Given the description of an element on the screen output the (x, y) to click on. 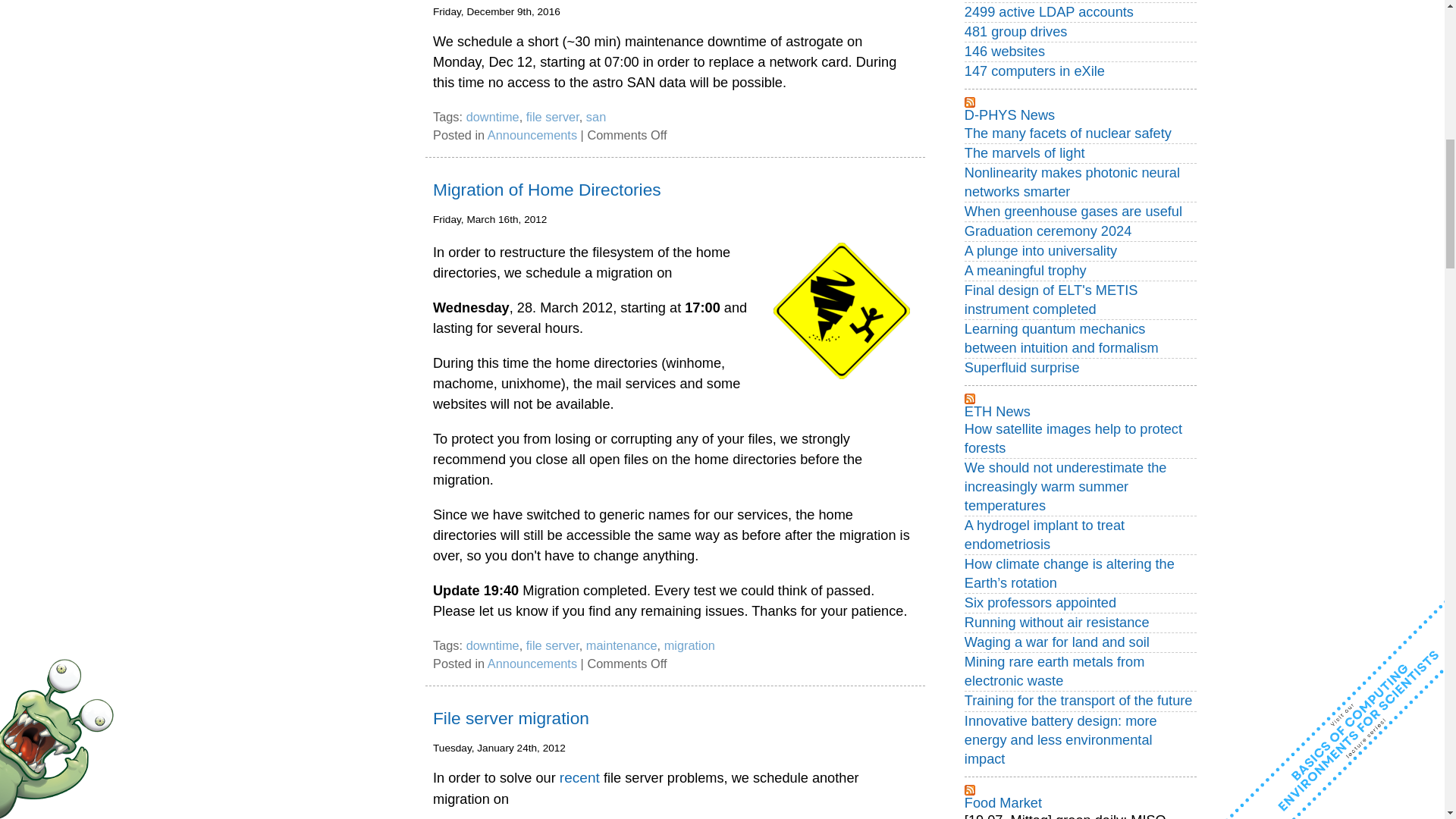
Permanent Link to Migration of Home Directories (546, 189)
Announcements (531, 134)
Permanent Link to File server migration (510, 718)
san (595, 116)
file server (552, 116)
Migration of Home Directories (546, 189)
downtime (492, 116)
